Given the description of an element on the screen output the (x, y) to click on. 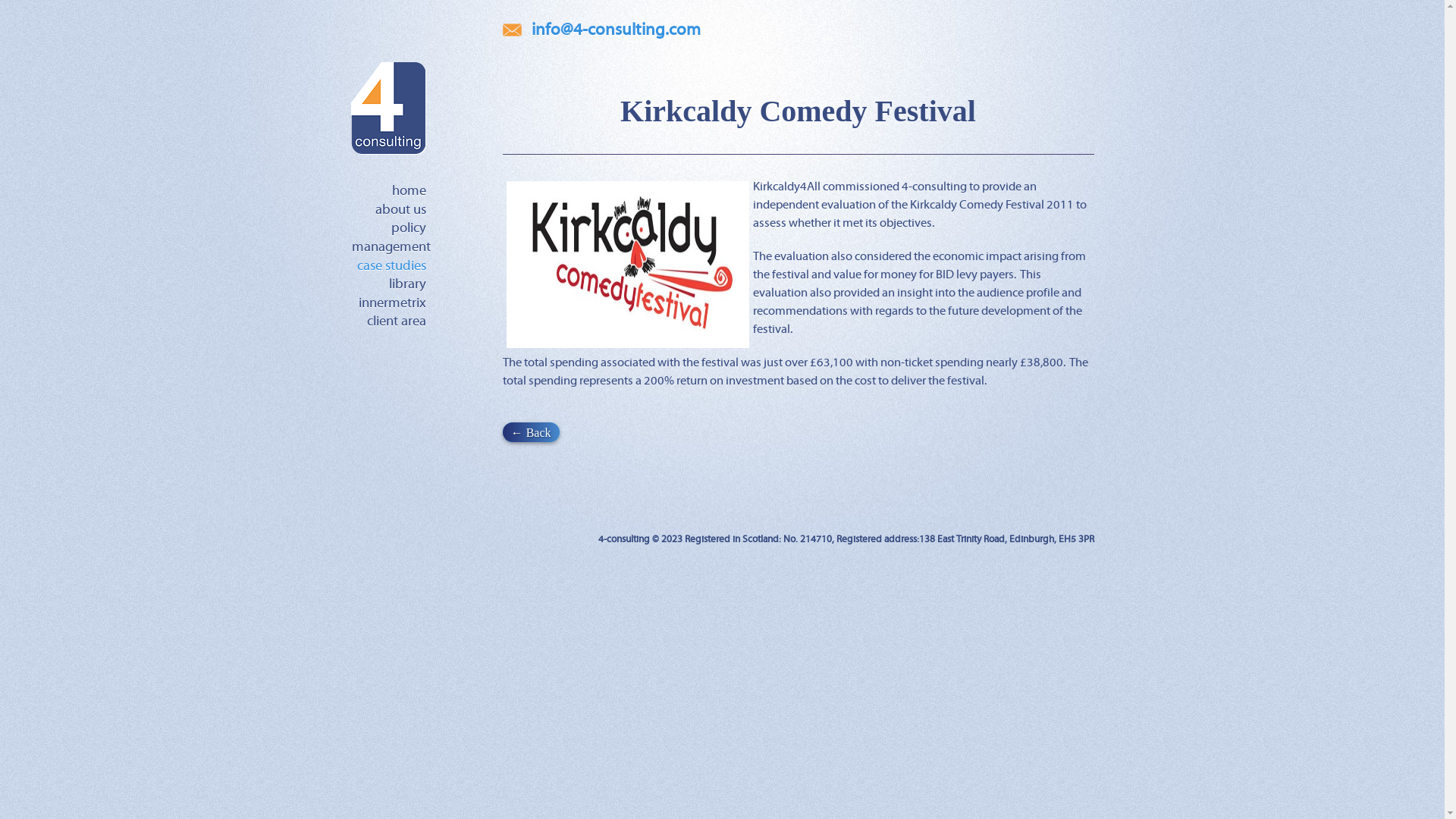
policy Element type: text (408, 227)
management Element type: text (390, 246)
innermetrix Element type: text (391, 302)
home Element type: text (408, 190)
client area Element type: text (396, 321)
info@4-consulting.com Element type: text (614, 29)
case studies Element type: text (390, 265)
library Element type: text (406, 283)
Kirkcaldy Comedy Festival Element type: text (797, 107)
about us Element type: text (399, 209)
